Given the description of an element on the screen output the (x, y) to click on. 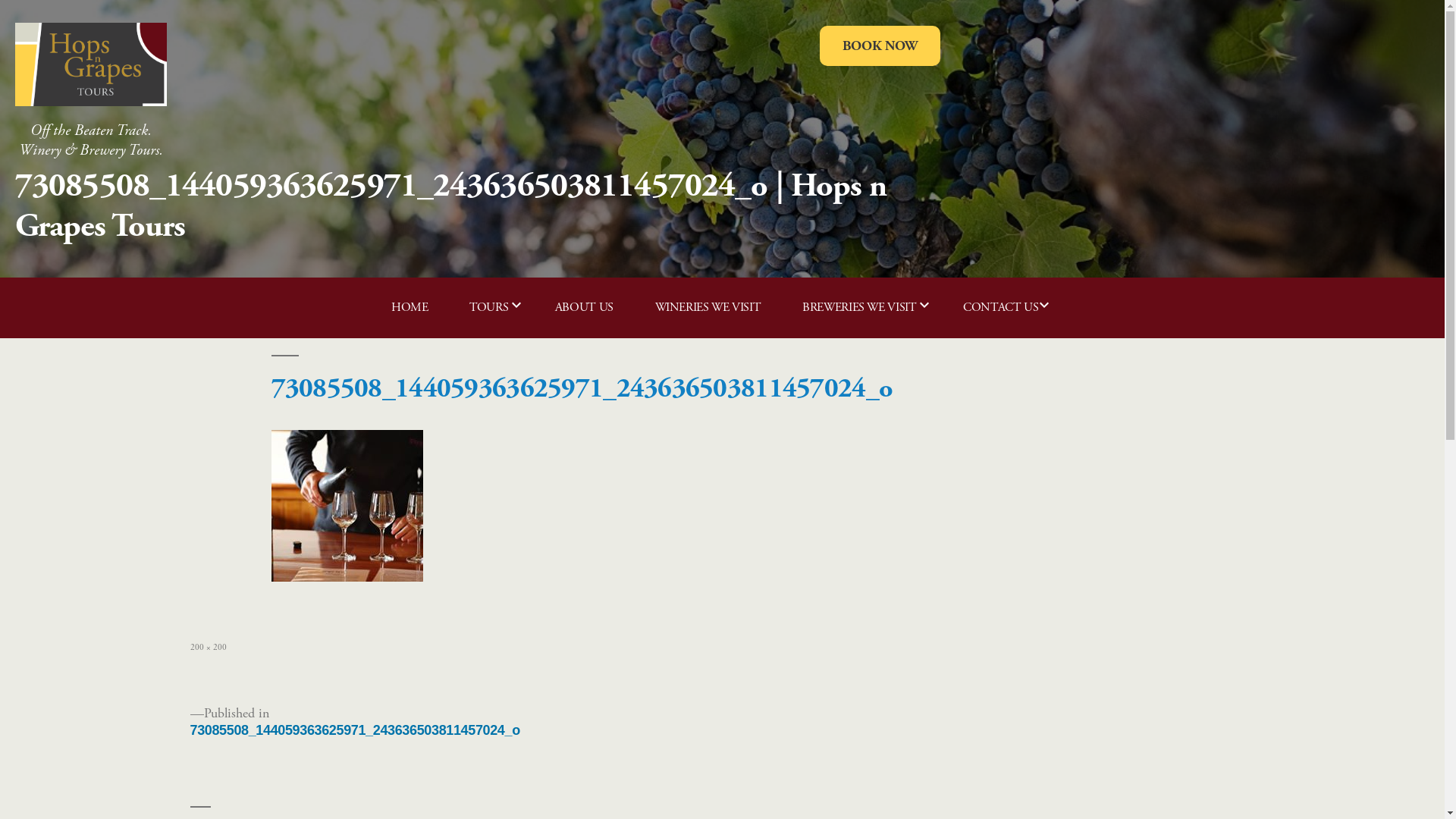
Off the Beaten Track. Winery & Brewery Tours. Element type: text (90, 128)
WINERIES WE VISIT Element type: text (707, 307)
ABOUT US Element type: text (583, 307)
HOME Element type: text (409, 307)
BREWERIES WE VISIT Element type: text (864, 307)
BOOK NOW Element type: text (879, 45)
TOURS Element type: text (494, 307)
Published in
73085508_144059363625971_243636503811457024_o Element type: text (354, 721)
CONTACT US Element type: text (1005, 307)
